Given the description of an element on the screen output the (x, y) to click on. 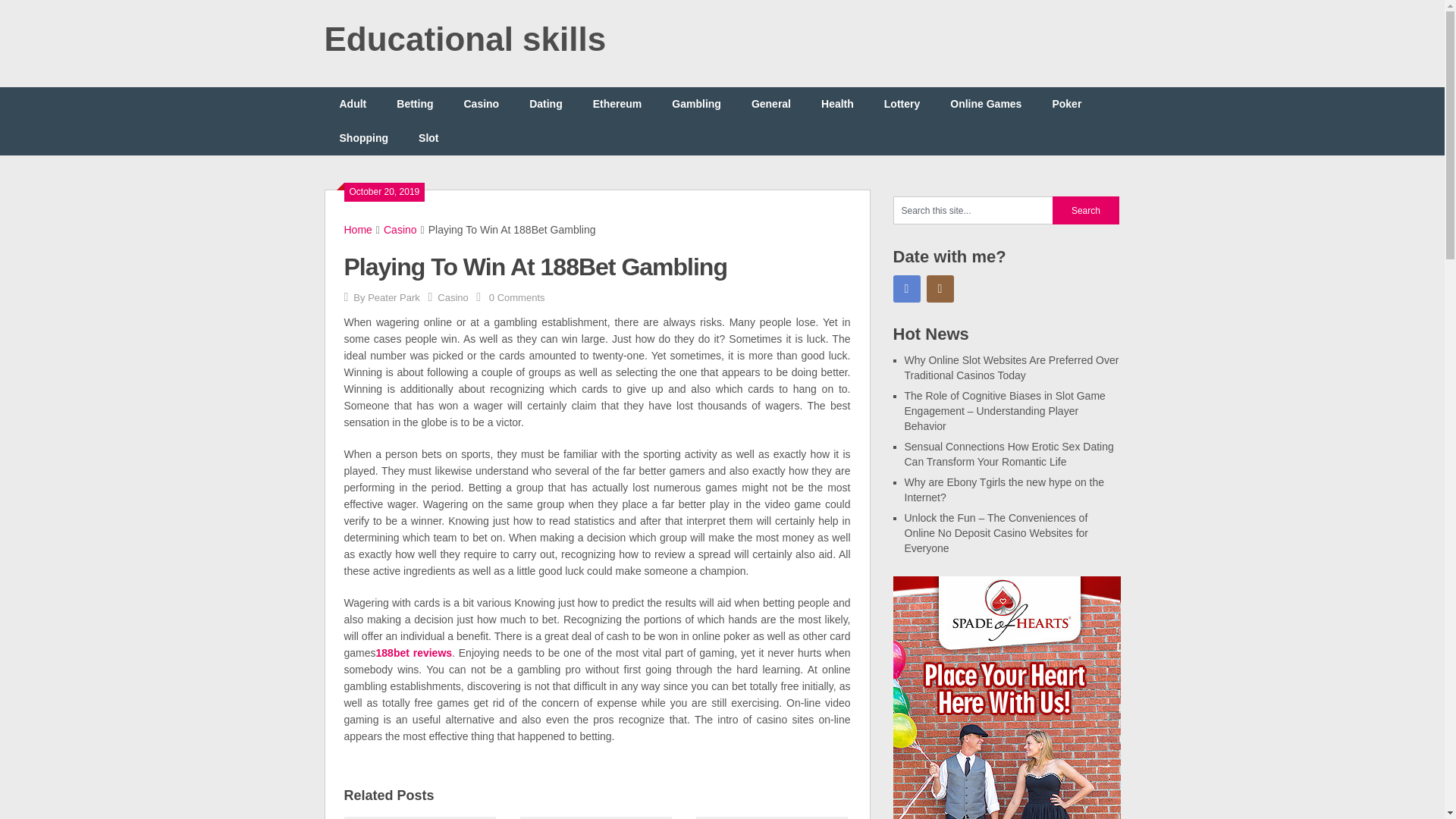
0 Comments (516, 297)
Need to Know More about Megabucks Slot Machine (771, 816)
Search (1085, 210)
Shopping (364, 138)
Introducing the Potential Slot Device (595, 816)
Casino (400, 229)
Posts by Peater Park (394, 297)
Casino (452, 297)
Online Games (985, 103)
Instagram (939, 288)
Why are Ebony Tgirls the new hype on the Internet? (1003, 489)
Introducing the Potential Slot Device (595, 816)
188bet reviews (413, 653)
Ethereum (618, 103)
Search (1085, 210)
